Given the description of an element on the screen output the (x, y) to click on. 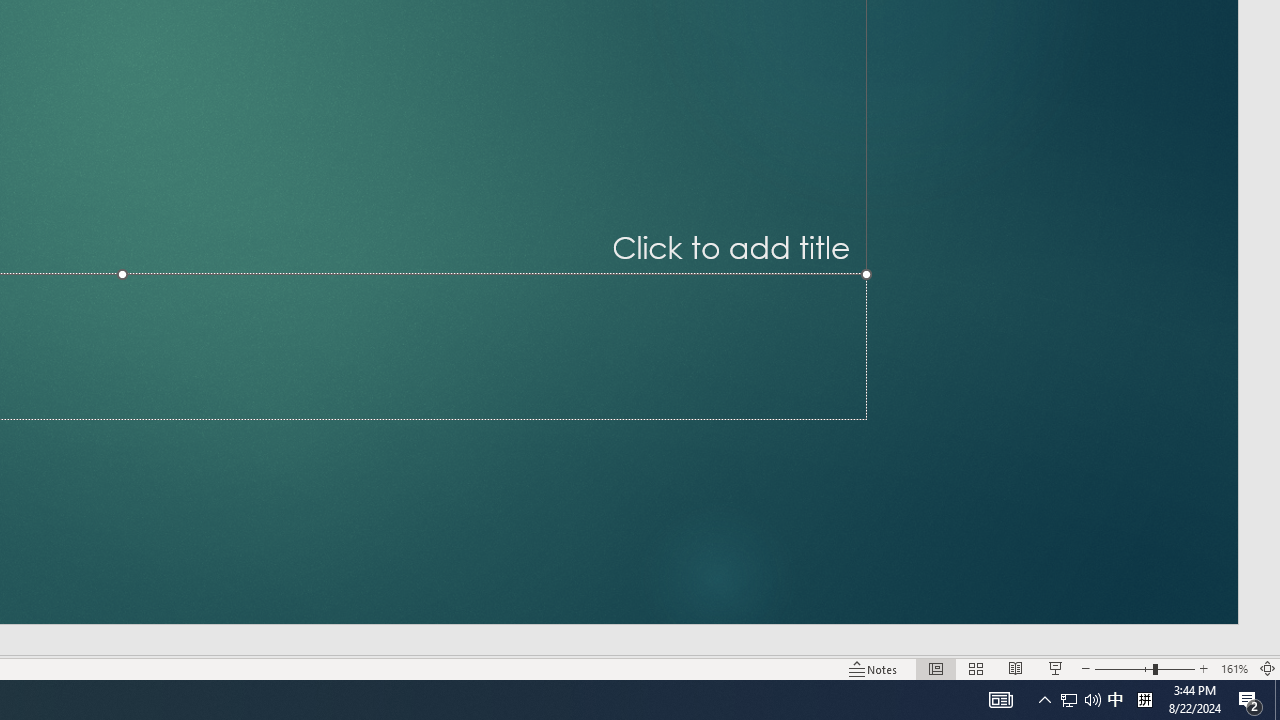
Zoom 161% (1234, 668)
